Given the description of an element on the screen output the (x, y) to click on. 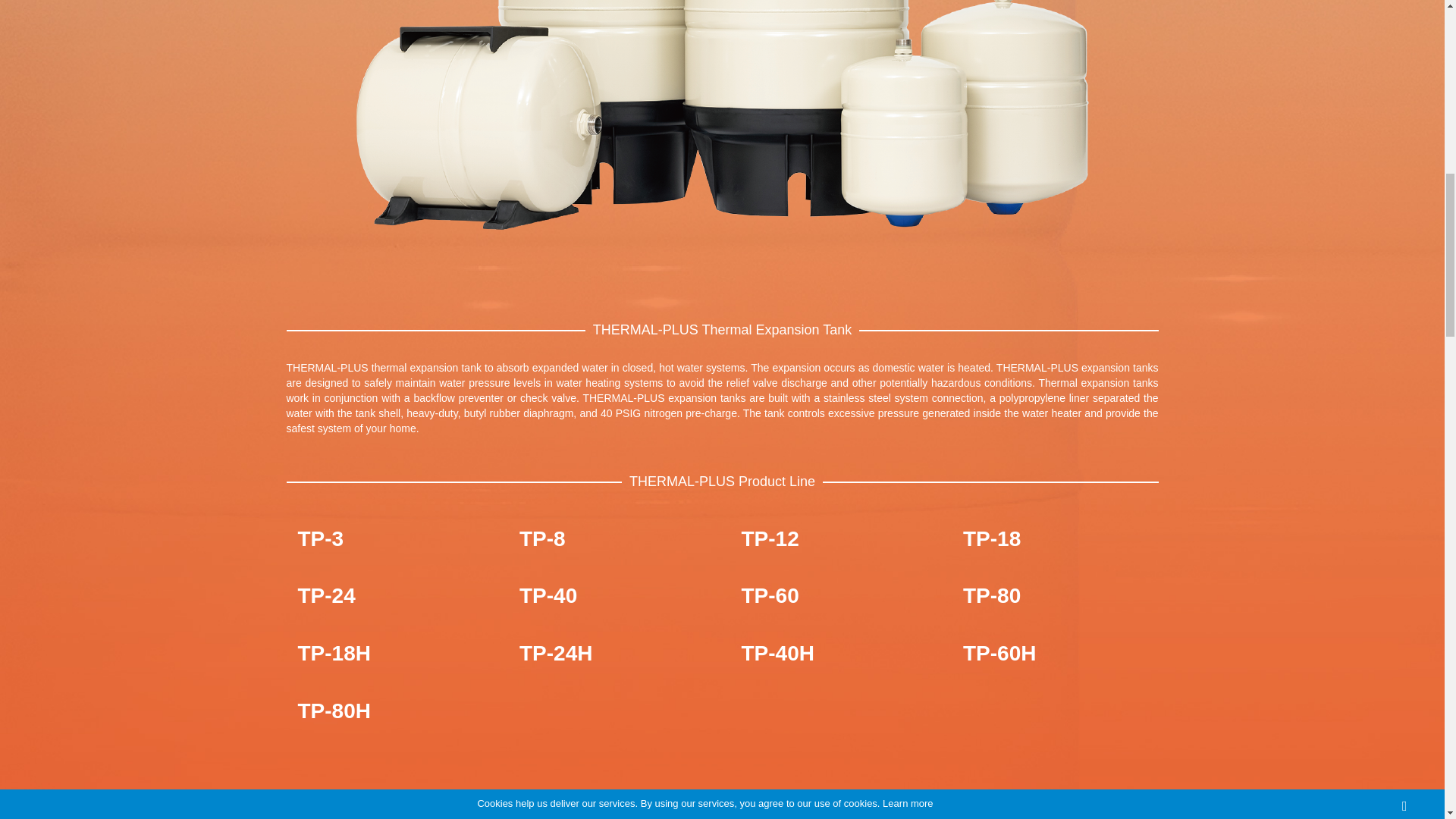
TP-8 (611, 539)
TP-3 (389, 539)
TP-18 (1054, 539)
TP-12 (833, 539)
